Given the description of an element on the screen output the (x, y) to click on. 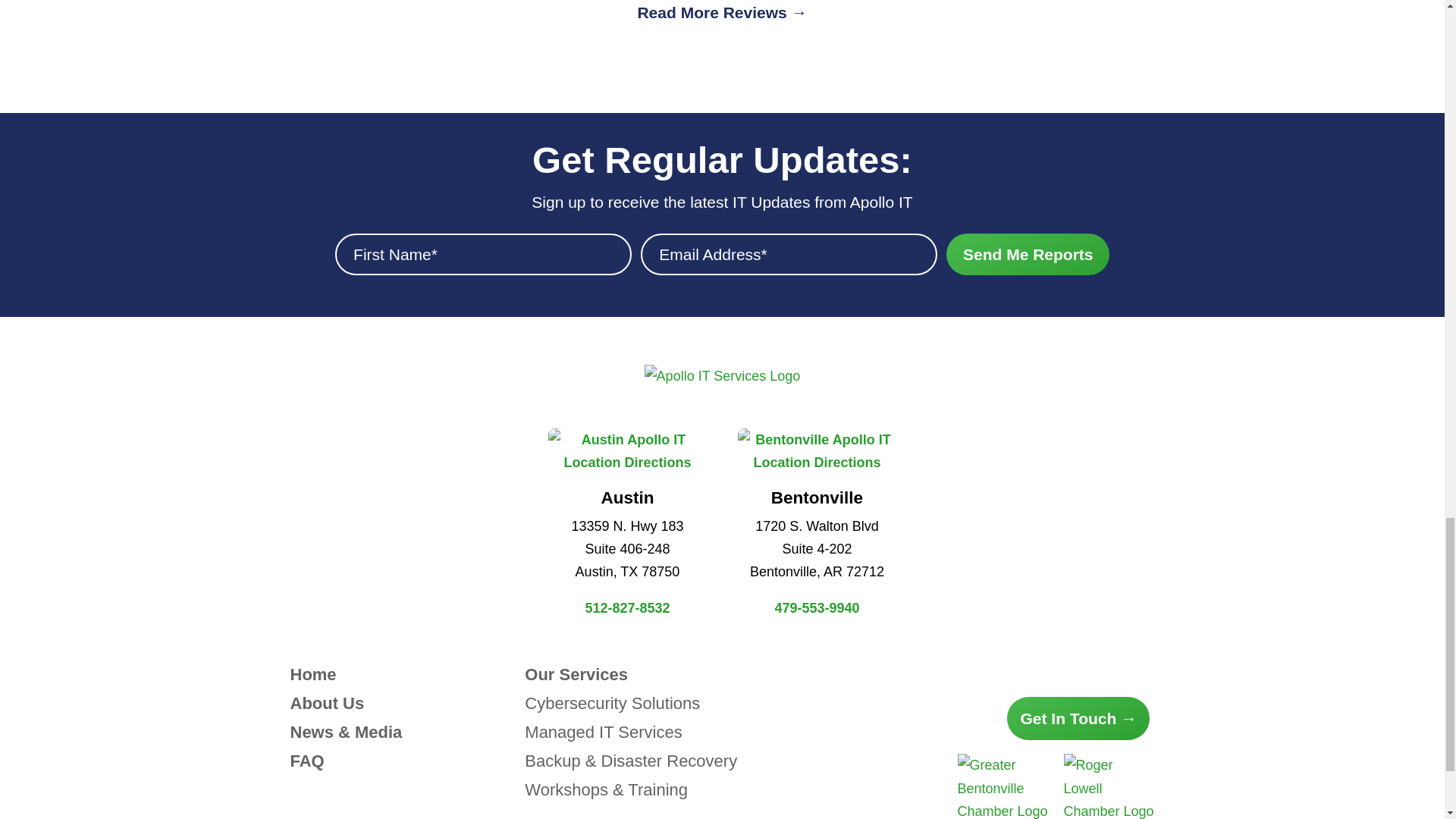
Cybersecurity Solutions (612, 702)
FAQ (306, 760)
Send Me Reports (1027, 254)
Our Services (575, 674)
Managed IT Services (602, 732)
About Us (326, 702)
Home (312, 674)
Home (312, 674)
Our Services (575, 674)
Managed IT Services (602, 732)
512-827-8532 (627, 607)
About Us (326, 702)
FAQ (306, 760)
479-553-9940 (816, 607)
Cybersecurity Solutions (612, 702)
